Given the description of an element on the screen output the (x, y) to click on. 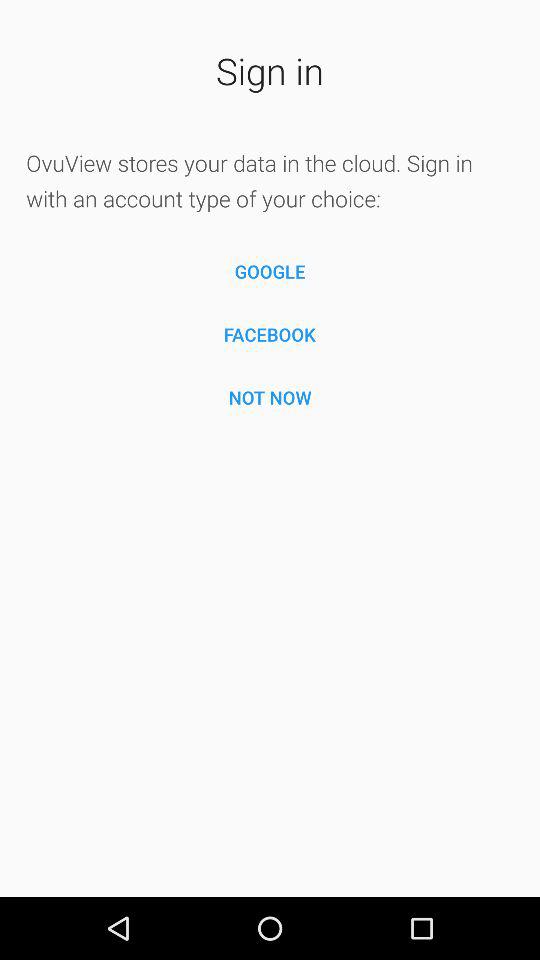
turn off icon below google item (269, 334)
